Given the description of an element on the screen output the (x, y) to click on. 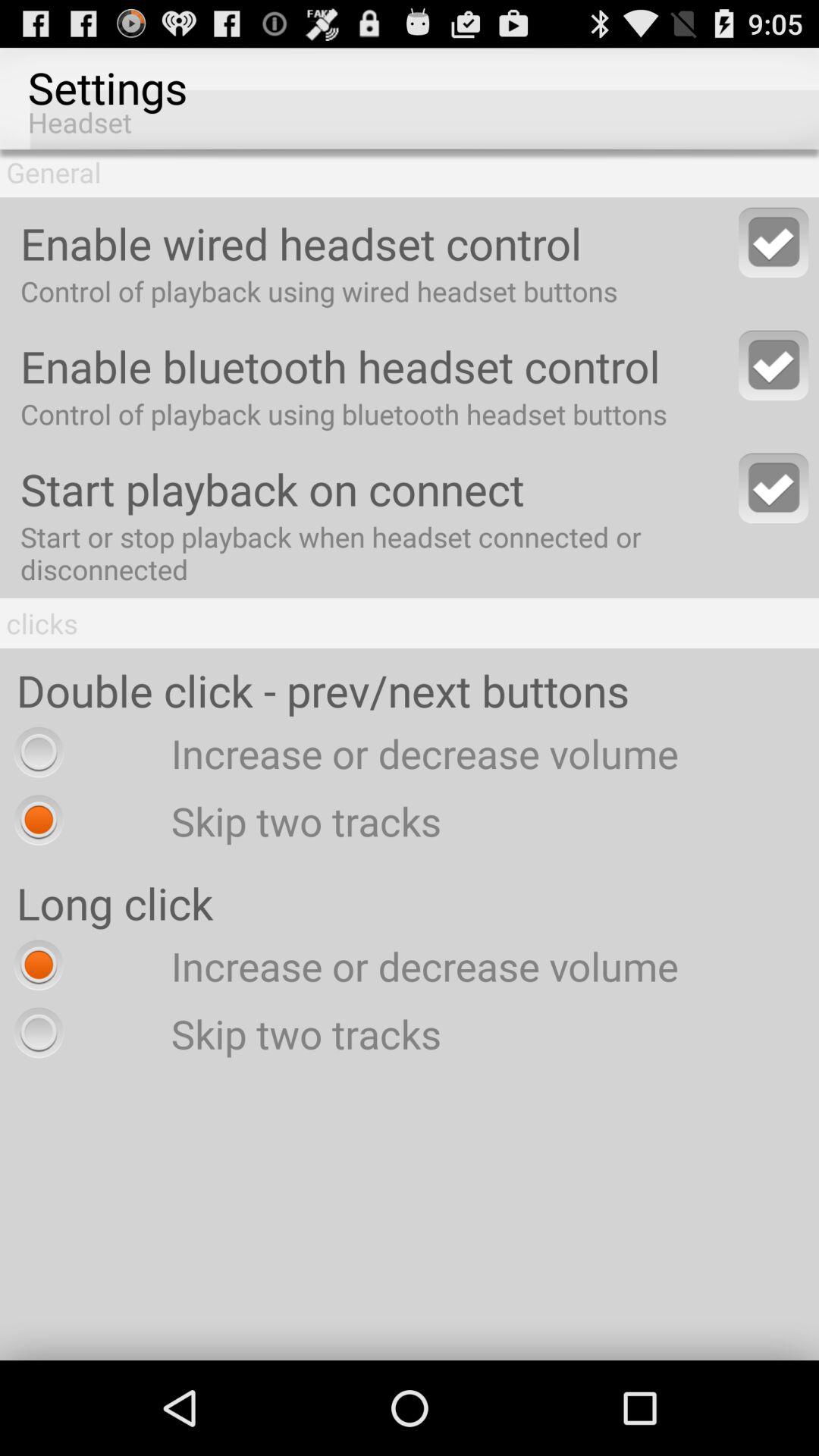
enable bluetooth (773, 365)
